Given the description of an element on the screen output the (x, y) to click on. 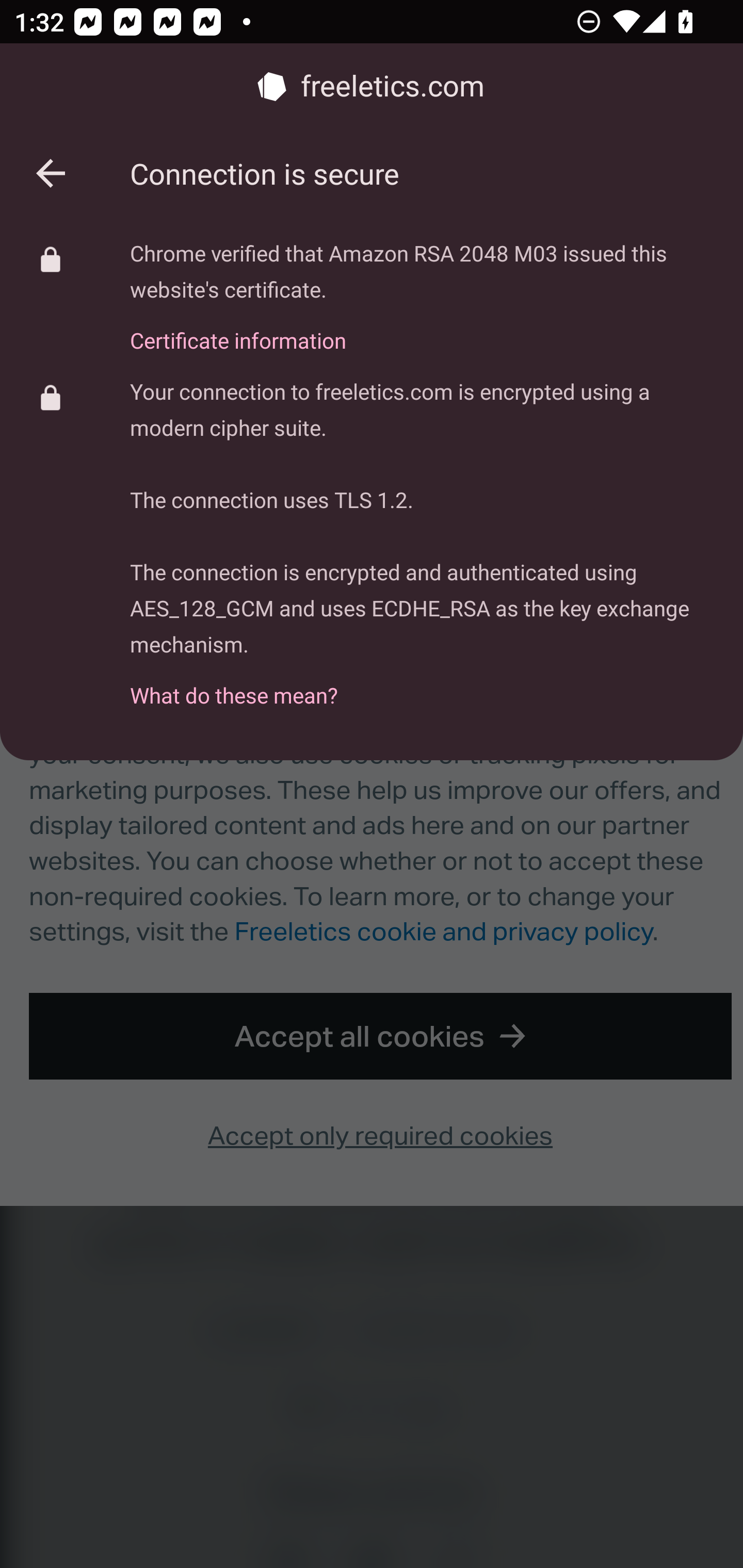
freeletics.com (371, 86)
Back (50, 173)
Certificate information (422, 329)
What do these mean? (422, 684)
